Given the description of an element on the screen output the (x, y) to click on. 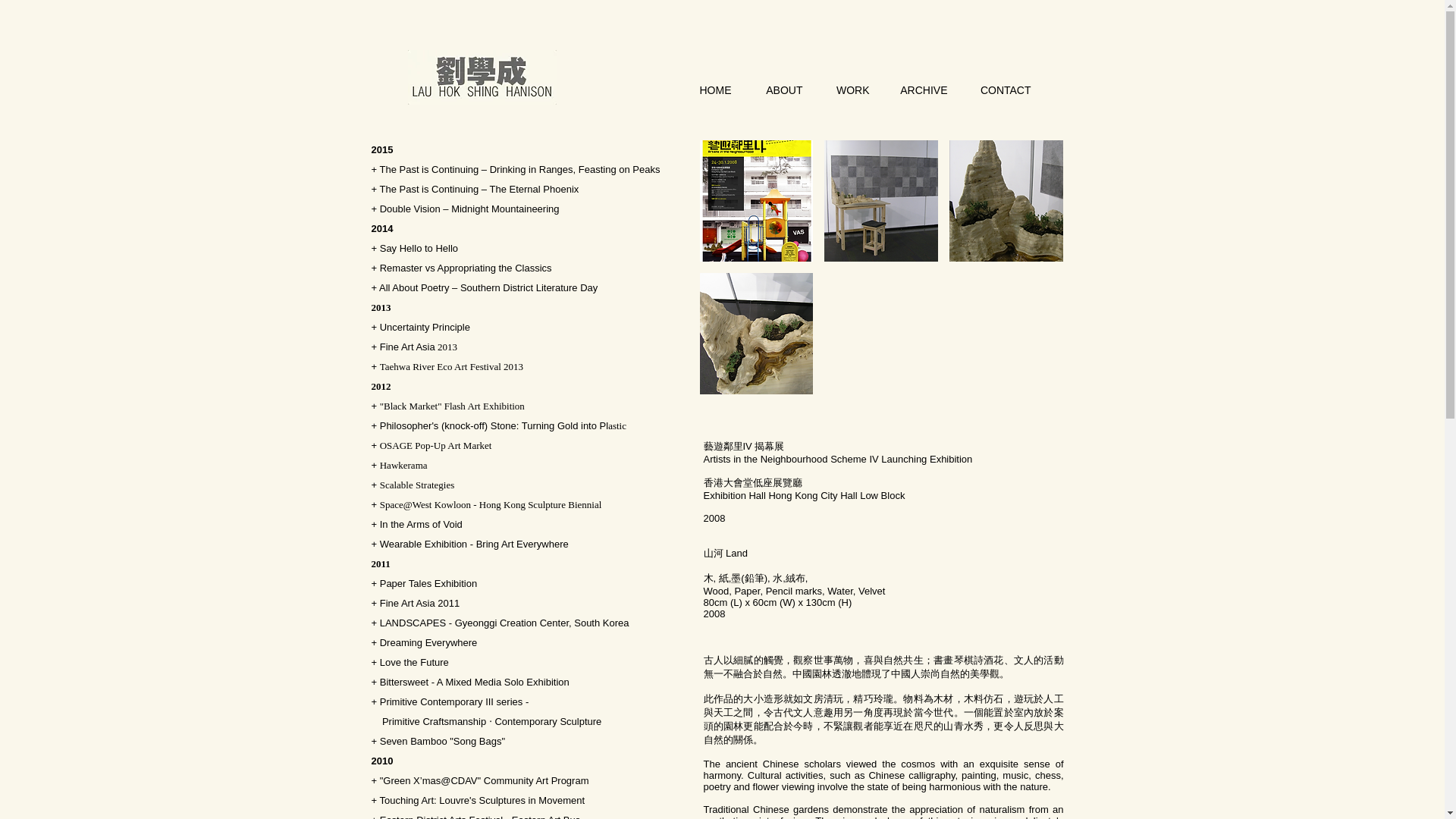
Plastic (612, 425)
Taehwa River Eco Art Festival 2013 (451, 366)
Bittersweet - A Mixed Media Solo Exhibition (474, 681)
Uncertainty Principle (425, 326)
CONTACT (1001, 90)
"Black Market" Flash Art Exhibition (452, 405)
Wearable Exhibition - Bring Art Everywhere (474, 543)
Scalable Strategies (417, 484)
Dreaming Everywhere (428, 642)
Remaster vs Appropriating the Classics (465, 267)
